Given the description of an element on the screen output the (x, y) to click on. 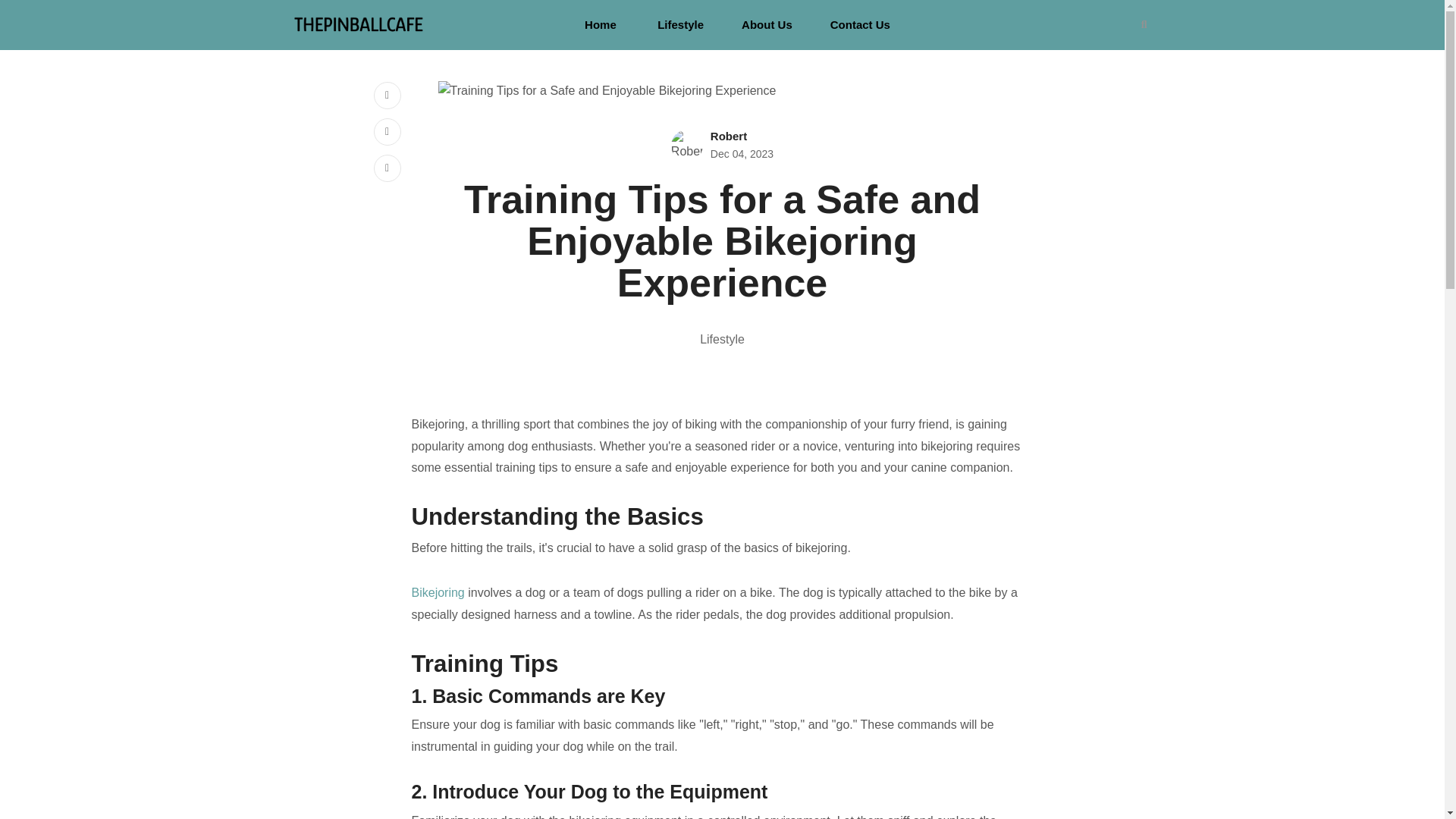
About Us (766, 24)
Home (600, 24)
Lifestyle (722, 338)
Lifestyle (680, 24)
Home (600, 24)
Robert (728, 135)
Bikejoring (437, 592)
Contact Us (859, 24)
